Given the description of an element on the screen output the (x, y) to click on. 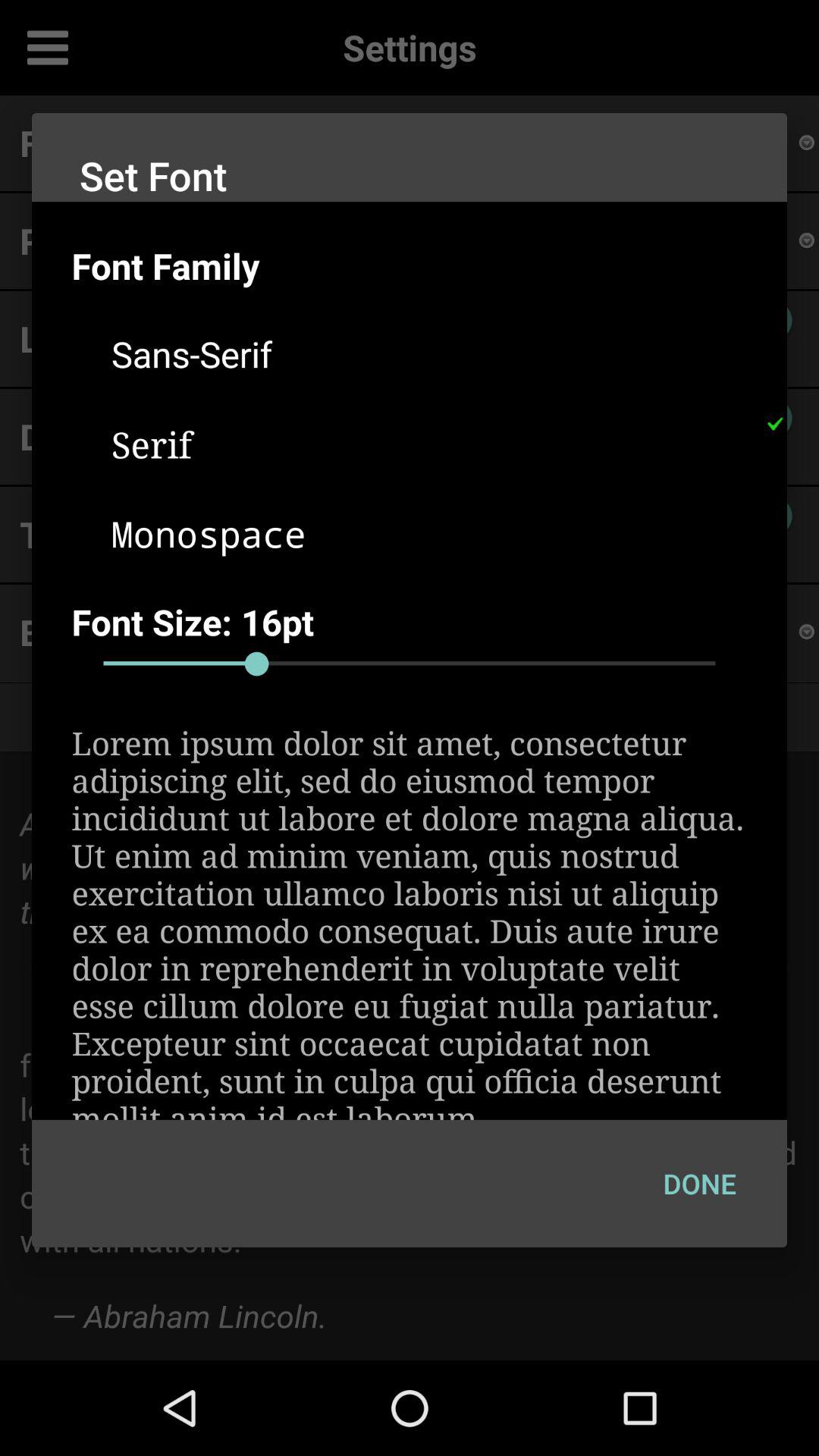
open icon below font family icon (429, 353)
